Given the description of an element on the screen output the (x, y) to click on. 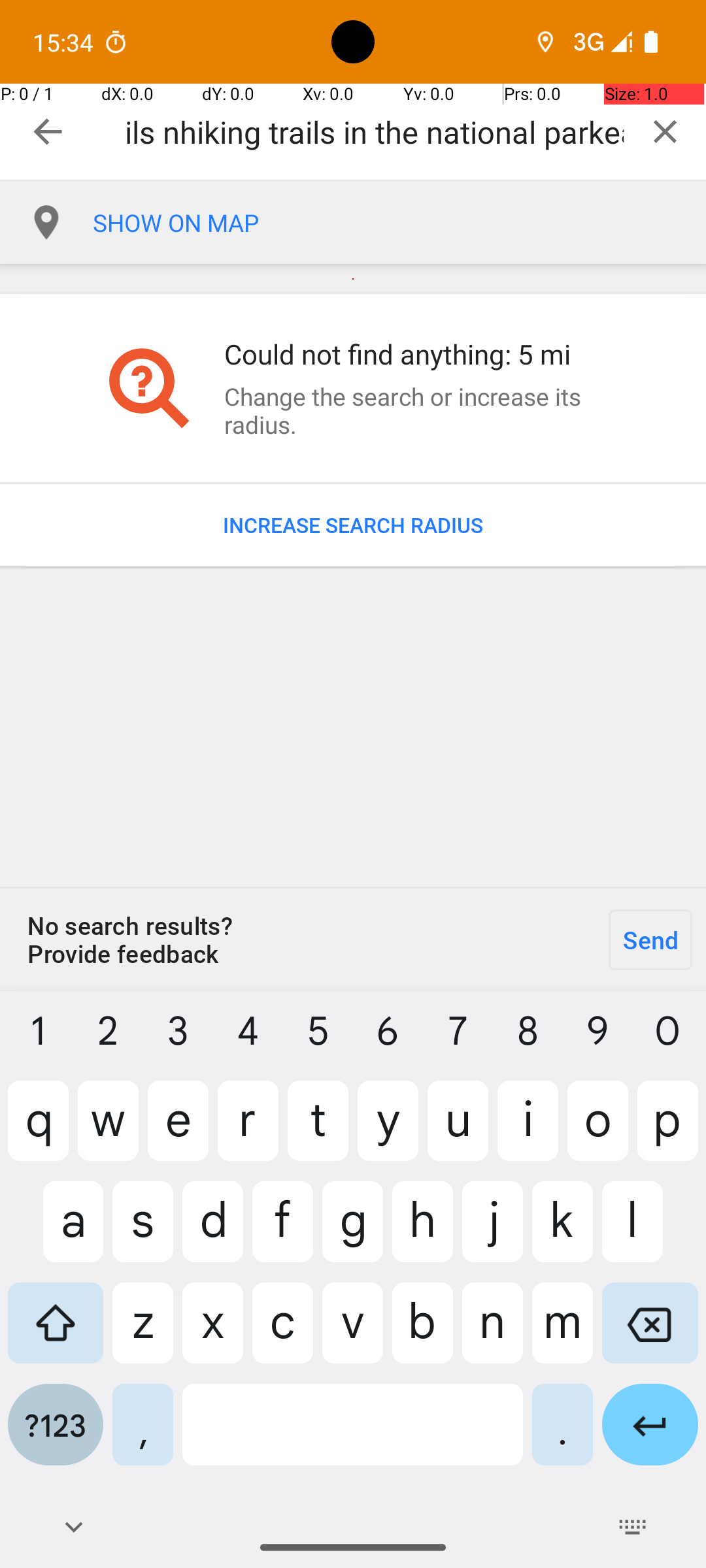
No search results?
Provide feedback Element type: android.widget.TextView (297, 939)
best hiking trails nhiking trails in the national parkear me Element type: android.widget.EditText (373, 131)
SHOW ON MAP Element type: android.widget.TextView (399, 222)
Could not find anything: 5 mi Element type: android.widget.TextView (414, 353)
Change the search or increase its radius. Element type: android.widget.TextView (414, 410)
INCREASE SEARCH RADIUS Element type: android.widget.TextView (352, 524)
